Given the description of an element on the screen output the (x, y) to click on. 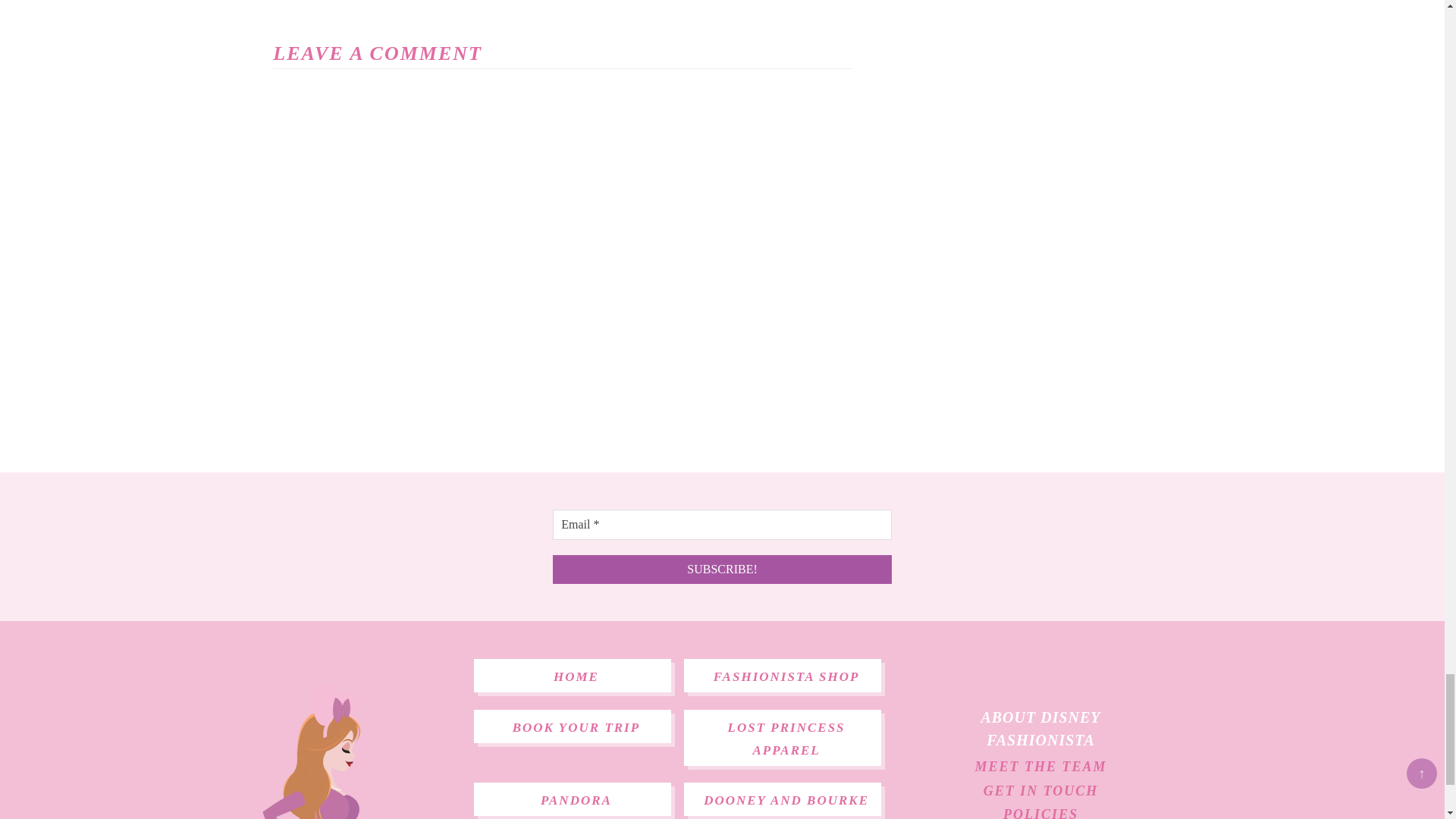
Subscribe! (722, 569)
